Given the description of an element on the screen output the (x, y) to click on. 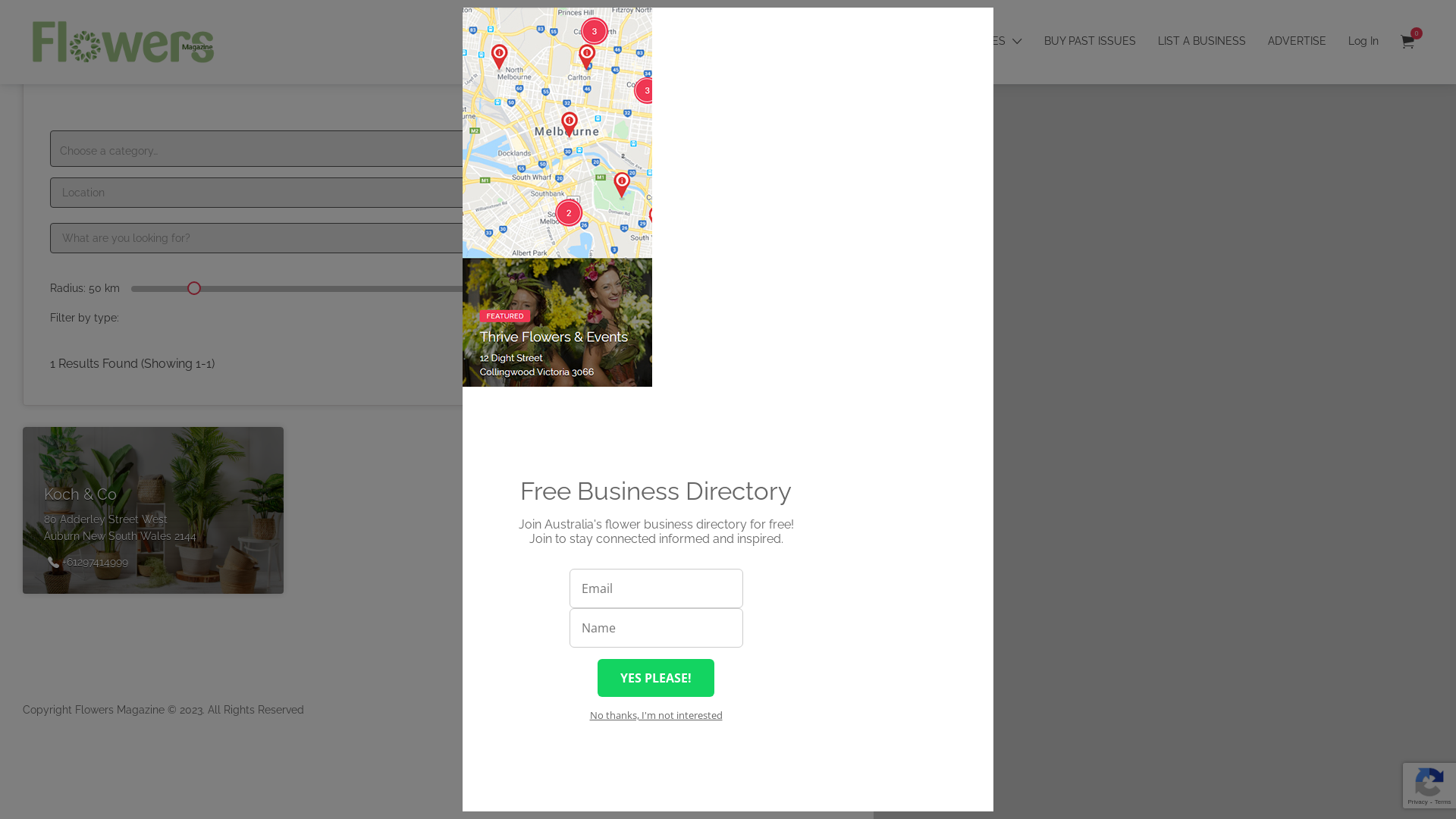
Log In Element type: text (1363, 40)
0
Items Element type: text (1407, 41)
LIST A BUSINESS Element type: text (1201, 40)
BUY PAST ISSUES Element type: text (1089, 40)
Search This Location Element type: text (1396, 18)
VIEW e-Mags & more Element type: text (797, 40)
FLOWER BUSINESSES Element type: text (947, 40)
80 Adderley Street West
Auburn New South Wales 2144 Element type: text (119, 527)
ADVERTISE Element type: text (1296, 40)
SUBSCRIBE Element type: text (675, 40)
